Given the description of an element on the screen output the (x, y) to click on. 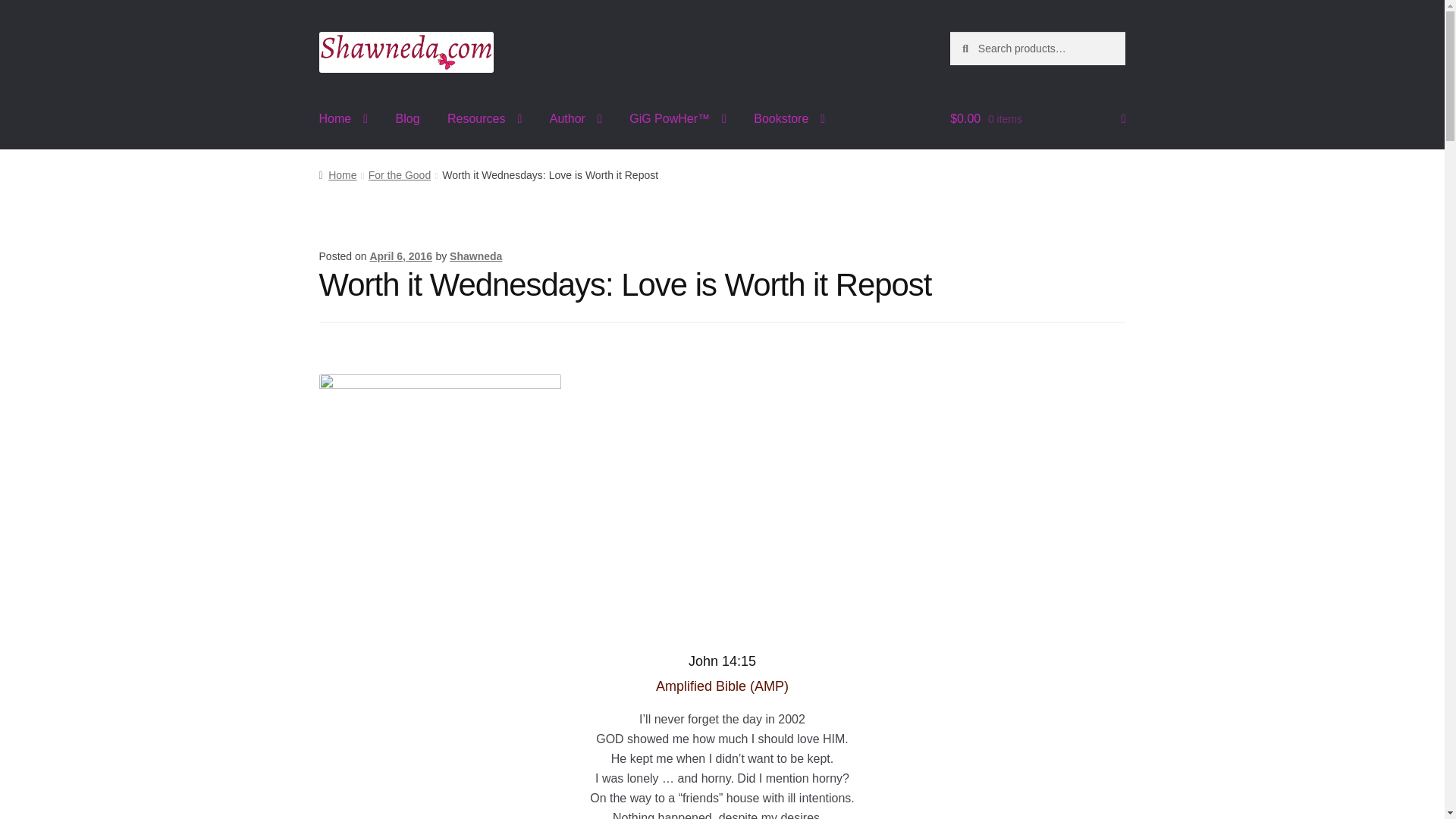
Resources (484, 118)
Author (575, 118)
View your shopping cart (1037, 118)
Home (343, 118)
Bookstore (789, 118)
